Given the description of an element on the screen output the (x, y) to click on. 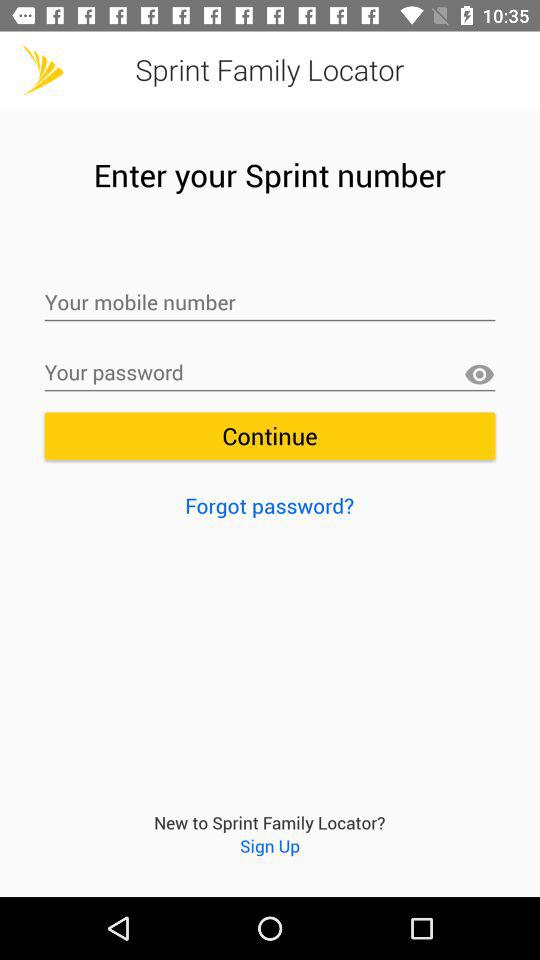
your password (269, 373)
